Given the description of an element on the screen output the (x, y) to click on. 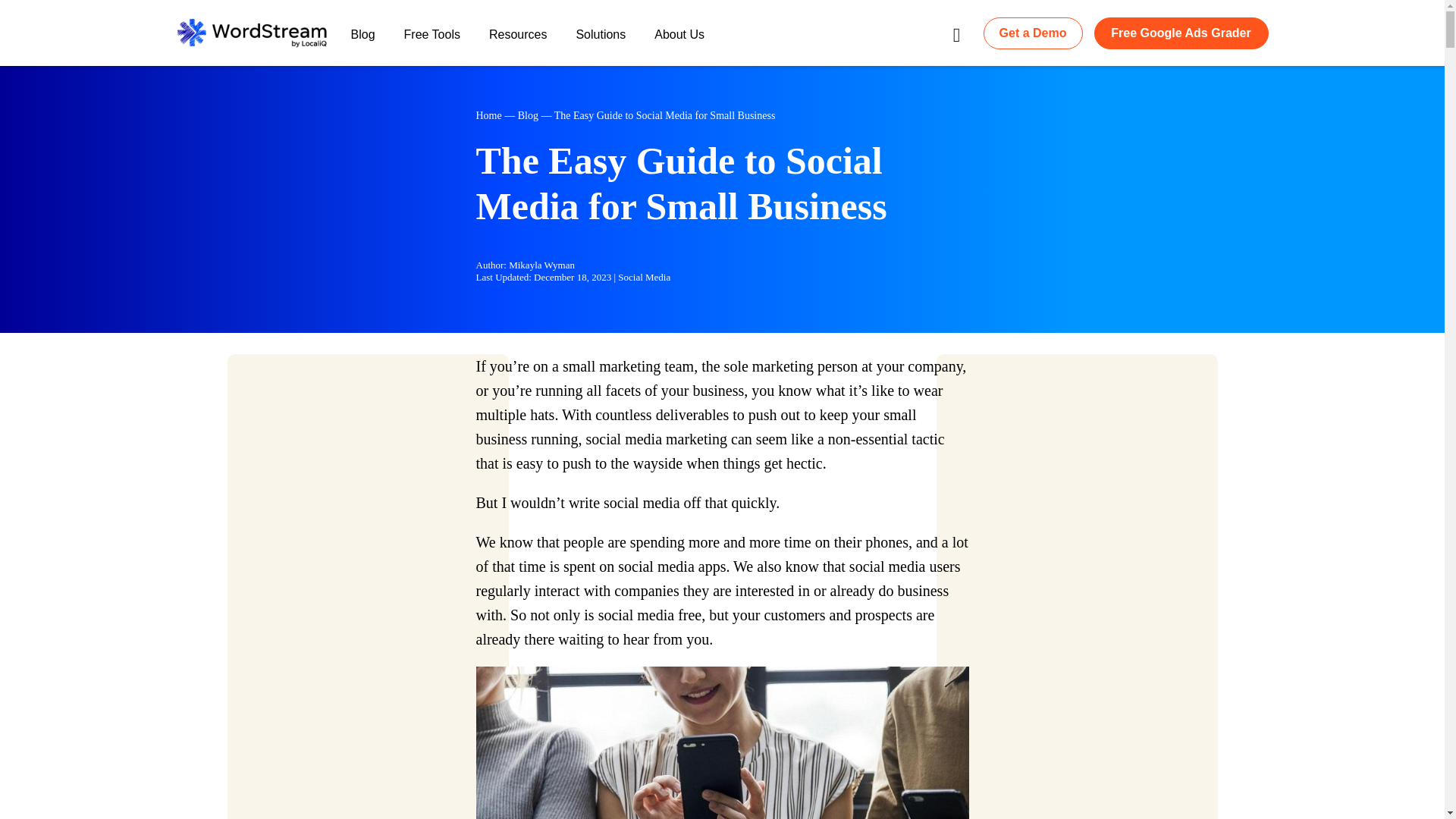
Mikayla Wyman (541, 265)
Social Media (643, 276)
Blog (363, 41)
Free Google Ads Grader (1180, 32)
Get a Demo (1033, 32)
Blog (528, 115)
Home (489, 115)
Resources (517, 41)
Free Tools (432, 41)
About Us (679, 41)
